Given the description of an element on the screen output the (x, y) to click on. 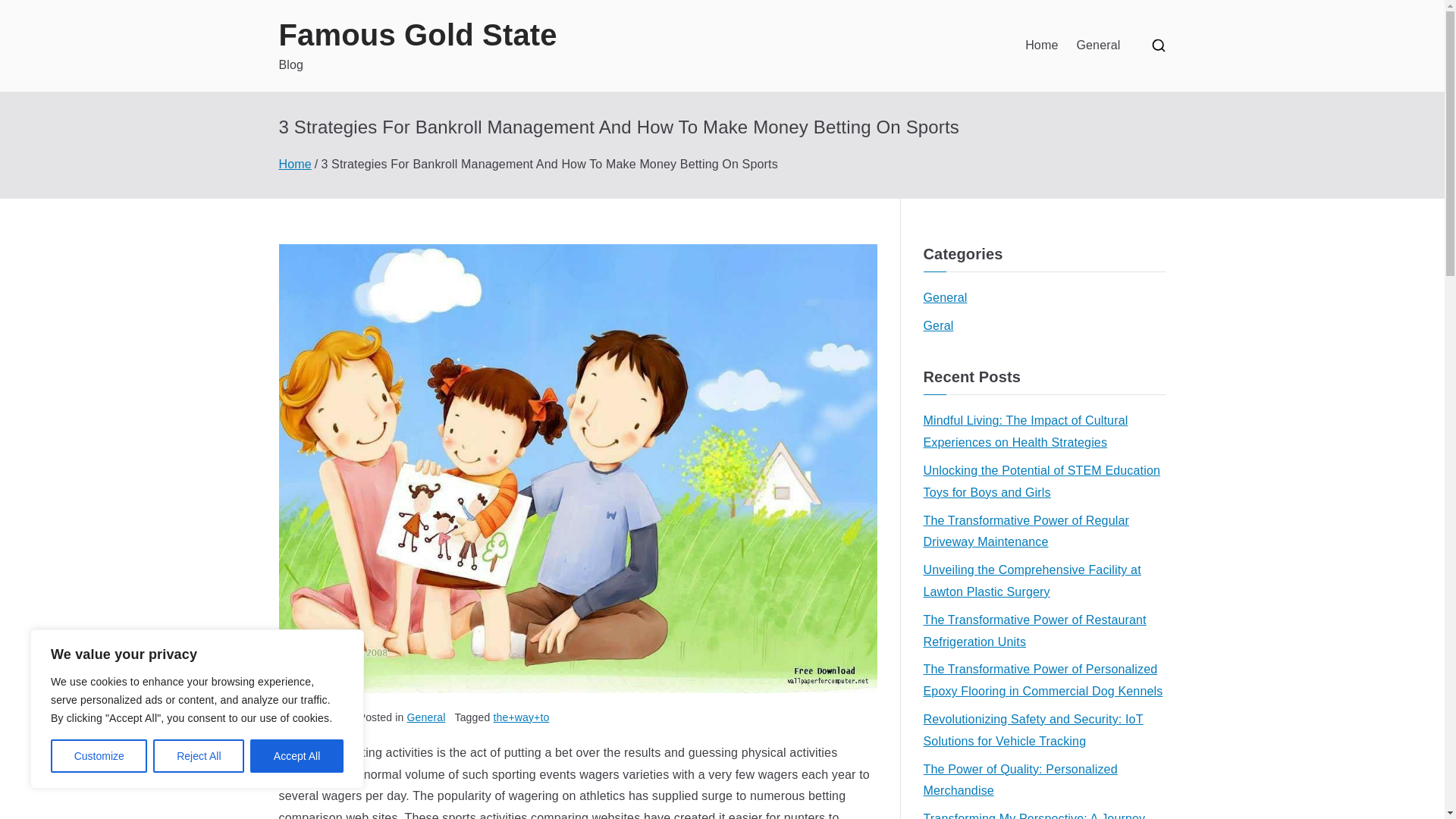
Reject All (198, 756)
General (945, 298)
Accept All (296, 756)
Customize (98, 756)
Home (1041, 45)
Geral (938, 326)
Famous Gold State (418, 34)
Home (295, 164)
General (1097, 45)
